Given the description of an element on the screen output the (x, y) to click on. 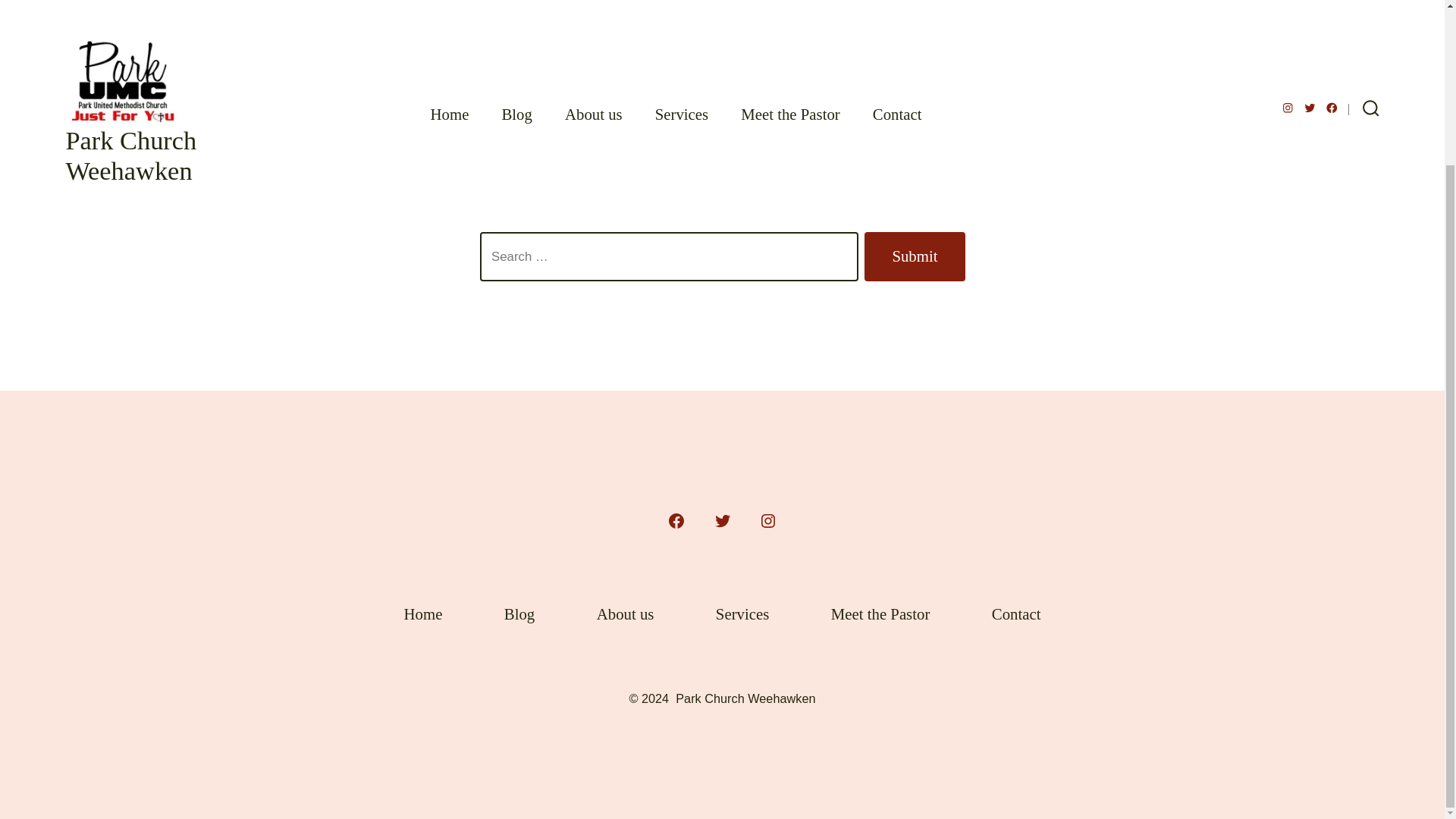
About us (624, 614)
Open Facebook in a new tab (676, 520)
Open Twitter in a new tab (721, 520)
Home (422, 614)
Contact (1015, 614)
Services (741, 614)
Open Instagram in a new tab (767, 520)
Blog (518, 614)
Submit (913, 256)
Meet the Pastor (880, 614)
